Given the description of an element on the screen output the (x, y) to click on. 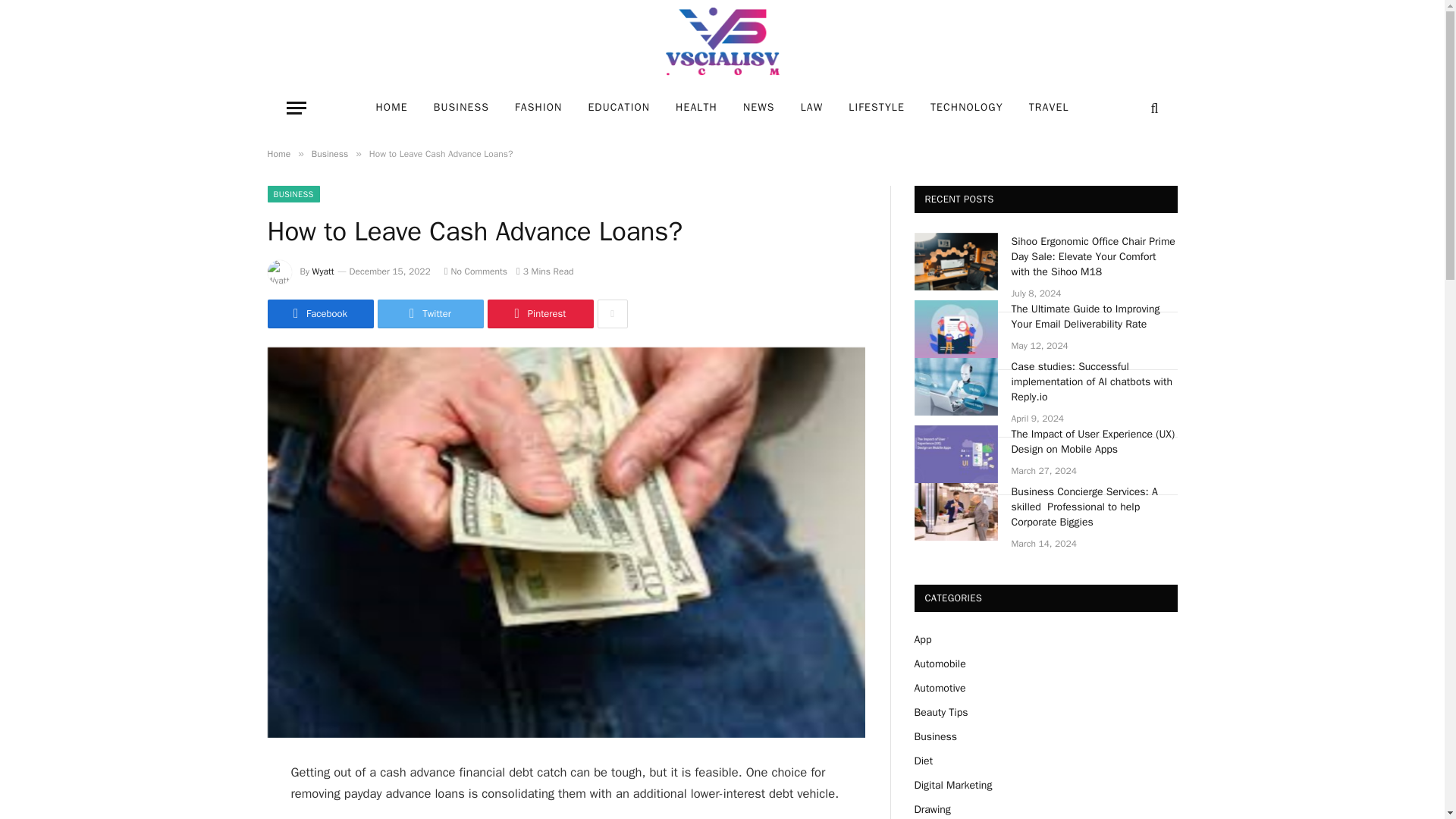
Share on Facebook (319, 313)
LIFESTYLE (876, 107)
TRAVEL (1048, 107)
BUSINESS (292, 193)
LAW (811, 107)
HEALTH (696, 107)
Pinterest (539, 313)
Show More Social Sharing (611, 313)
FASHION (538, 107)
Twitter (430, 313)
Facebook (319, 313)
No Comments (475, 271)
TECHNOLOGY (966, 107)
BUSINESS (461, 107)
HOME (391, 107)
